Given the description of an element on the screen output the (x, y) to click on. 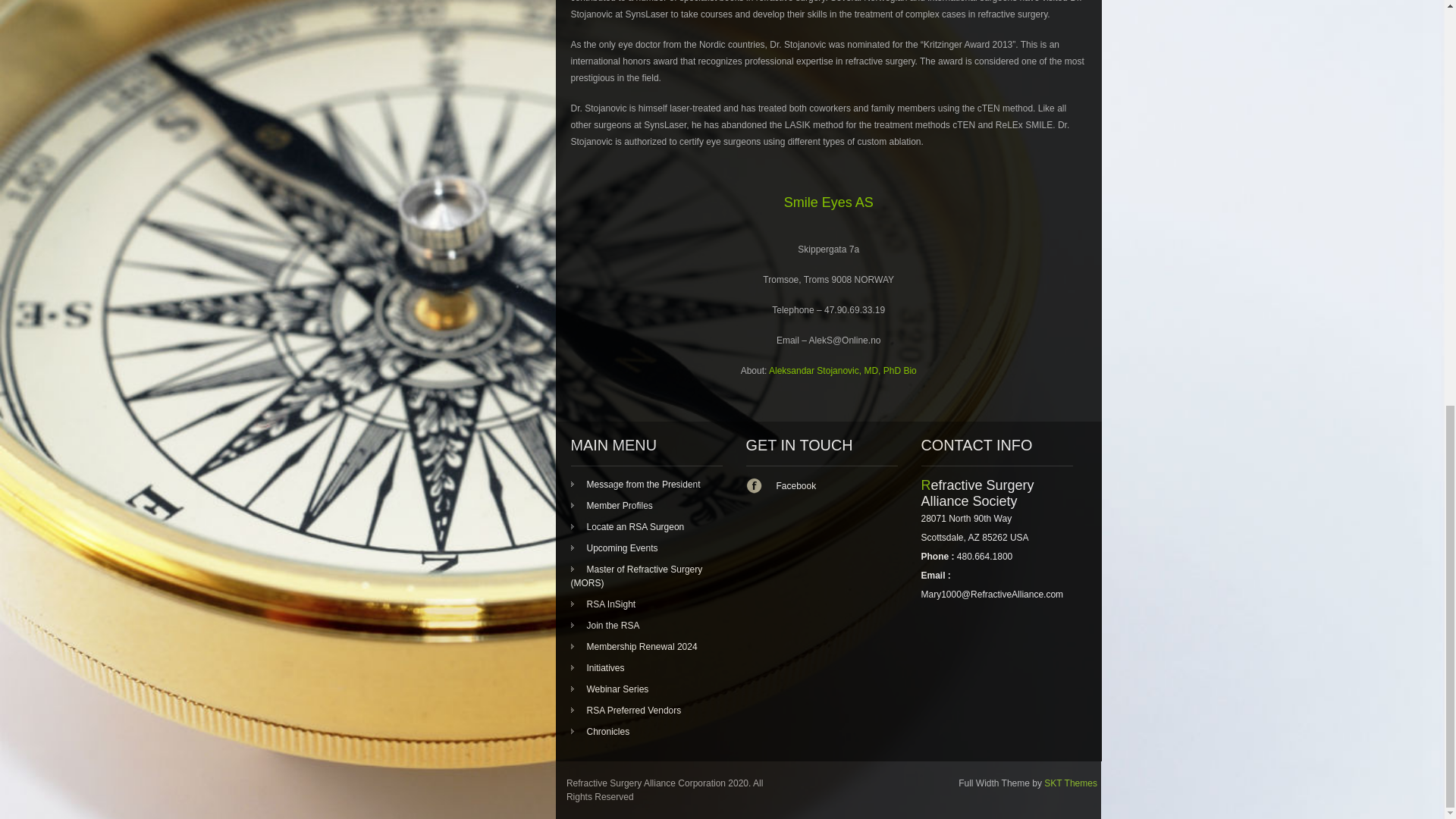
Member Profiles (611, 505)
Facebook (817, 486)
Aleksandar Stojanovic, MD, PhD Bio (842, 370)
Smile Eyes AS (828, 201)
Locate an RSA Surgeon (627, 526)
Message from the President (635, 484)
Aleksandar Stojanovic, MD, PhD (842, 370)
Smile Eyes AS (828, 201)
